Given the description of an element on the screen output the (x, y) to click on. 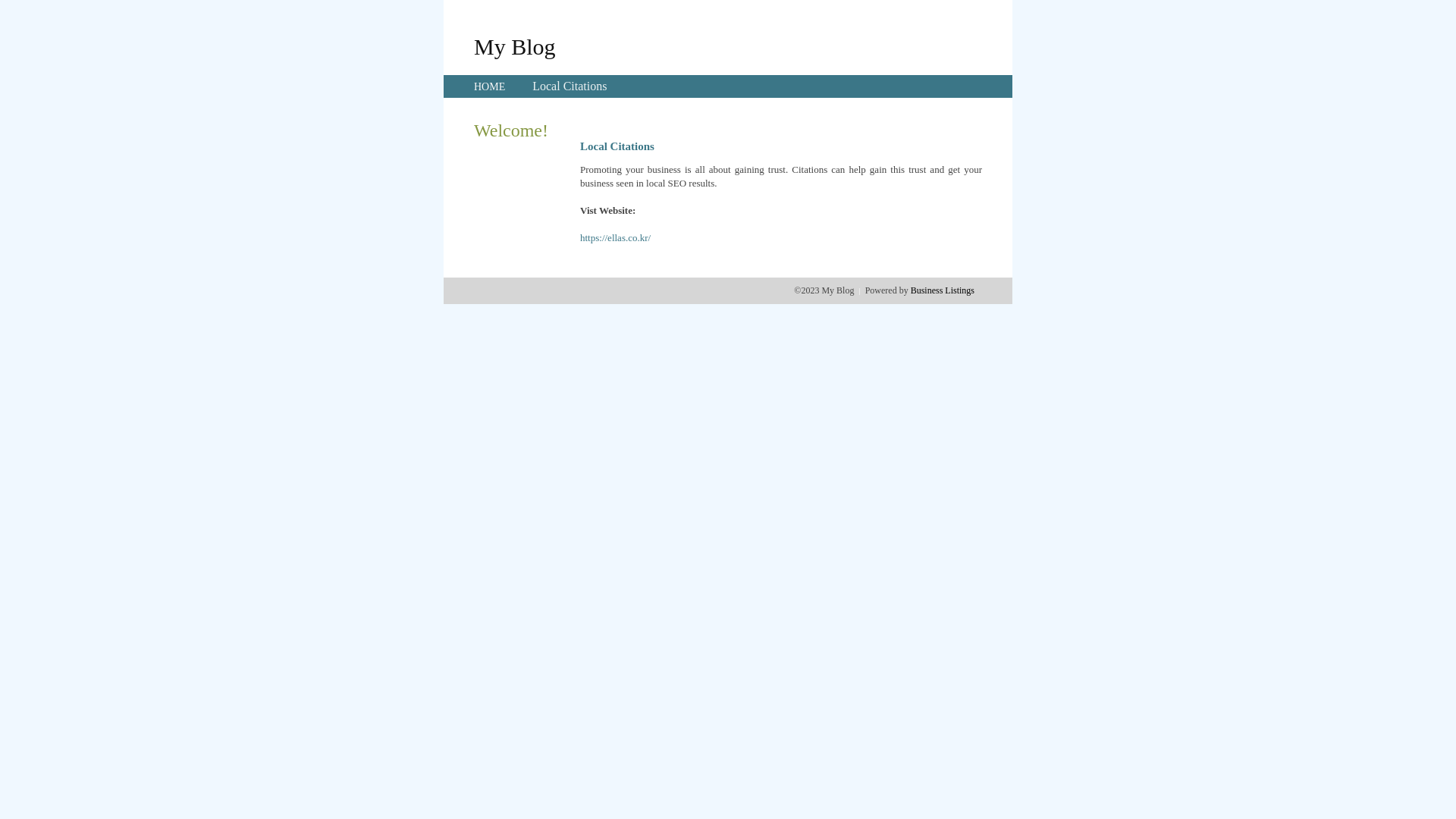
My Blog Element type: text (514, 46)
Business Listings Element type: text (942, 290)
Local Citations Element type: text (569, 85)
https://ellas.co.kr/ Element type: text (615, 237)
HOME Element type: text (489, 86)
